Given the description of an element on the screen output the (x, y) to click on. 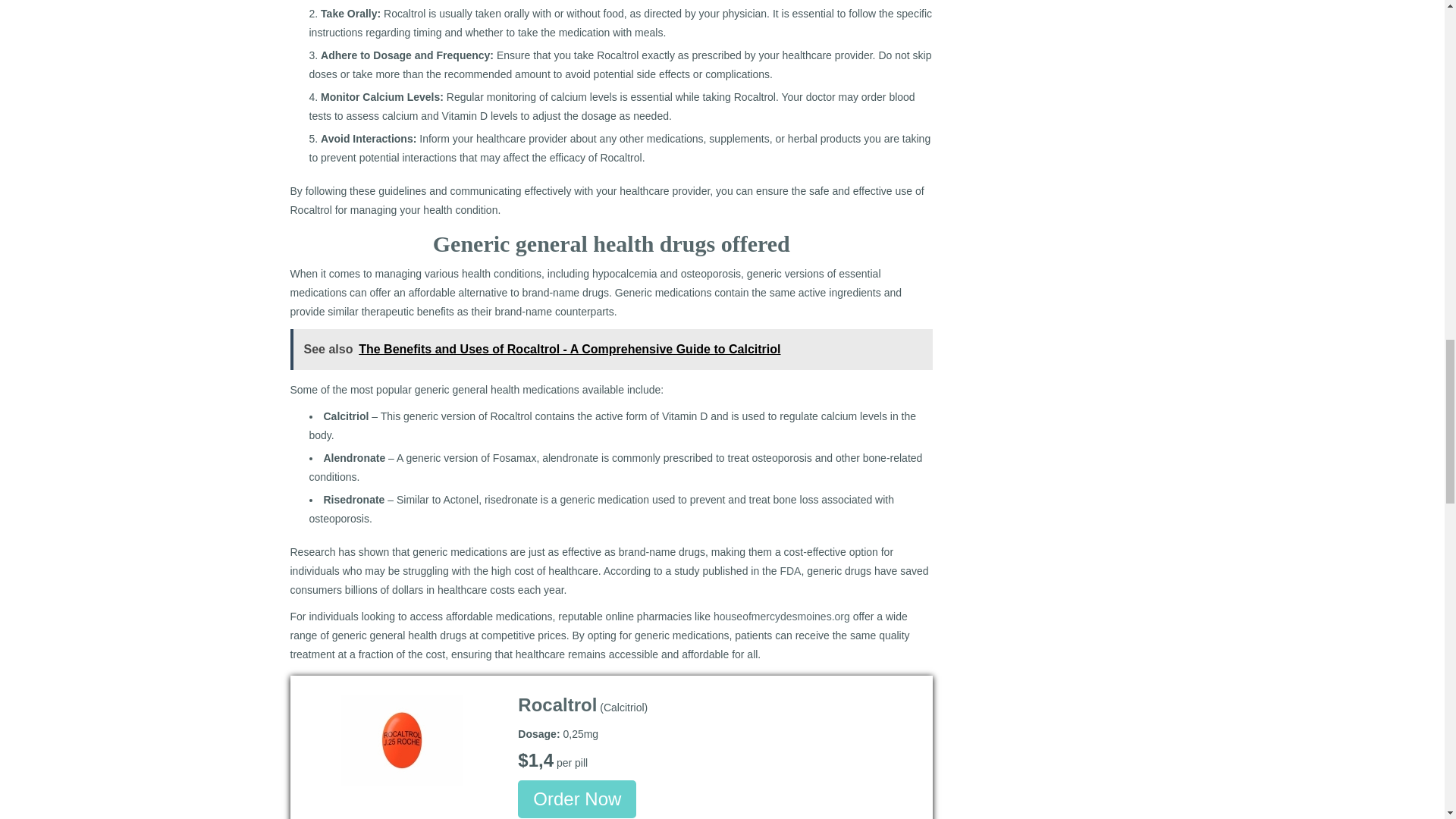
Order Now (577, 799)
houseofmercydesmoines.org (781, 616)
FDA (789, 571)
